Given the description of an element on the screen output the (x, y) to click on. 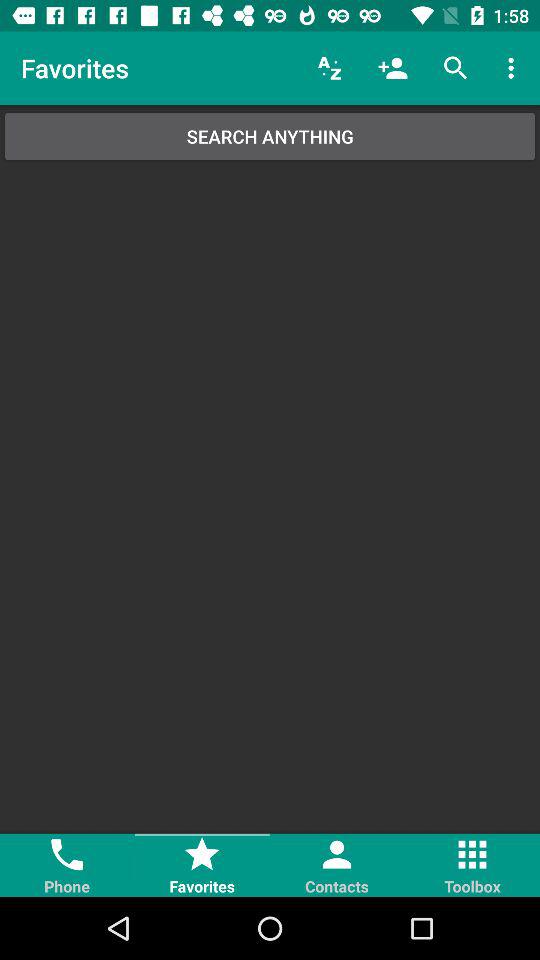
scroll to search anything item (270, 136)
